Given the description of an element on the screen output the (x, y) to click on. 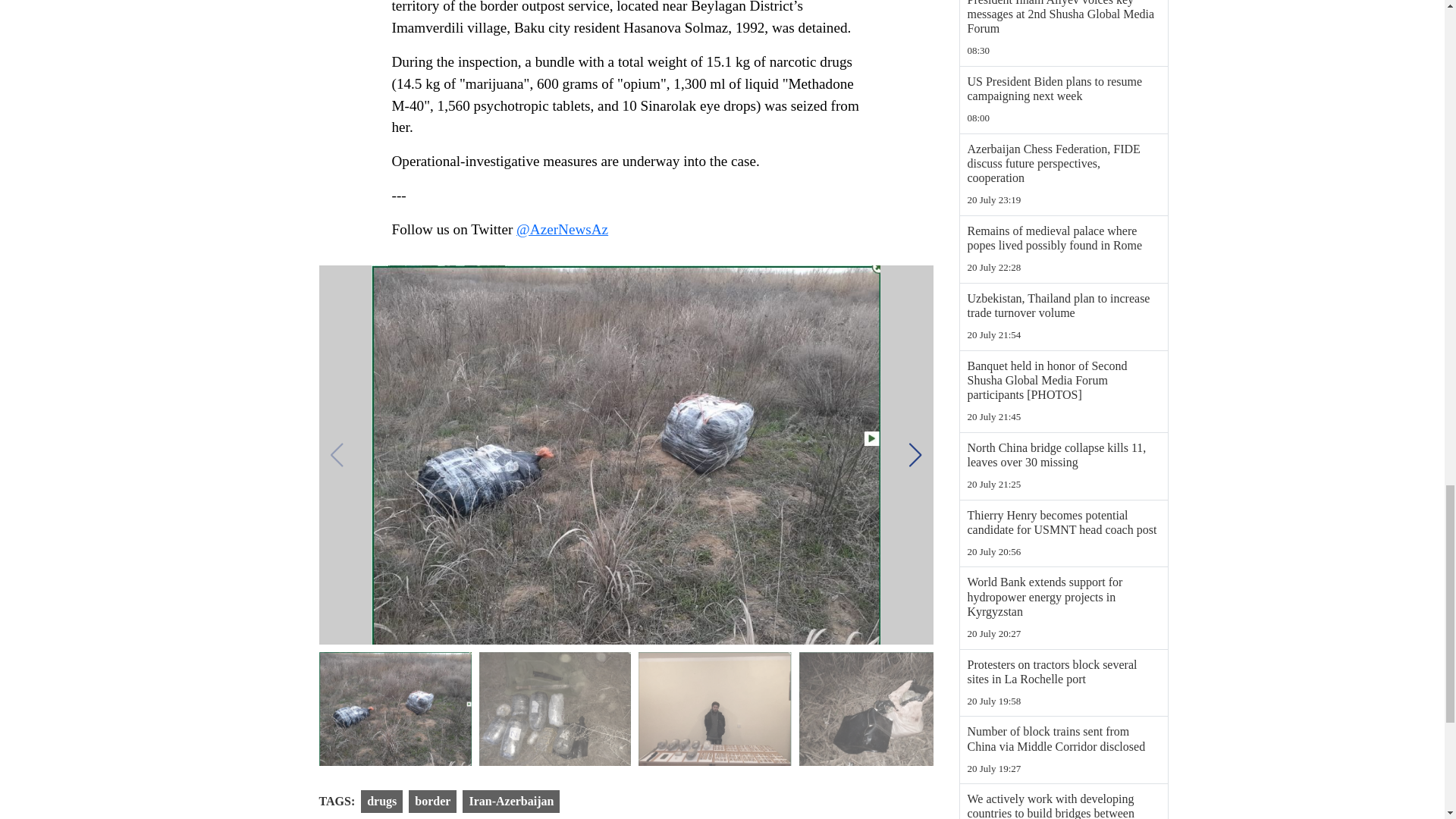
Iran-Azerbaijan (511, 801)
drugs (382, 801)
border (433, 801)
